Given the description of an element on the screen output the (x, y) to click on. 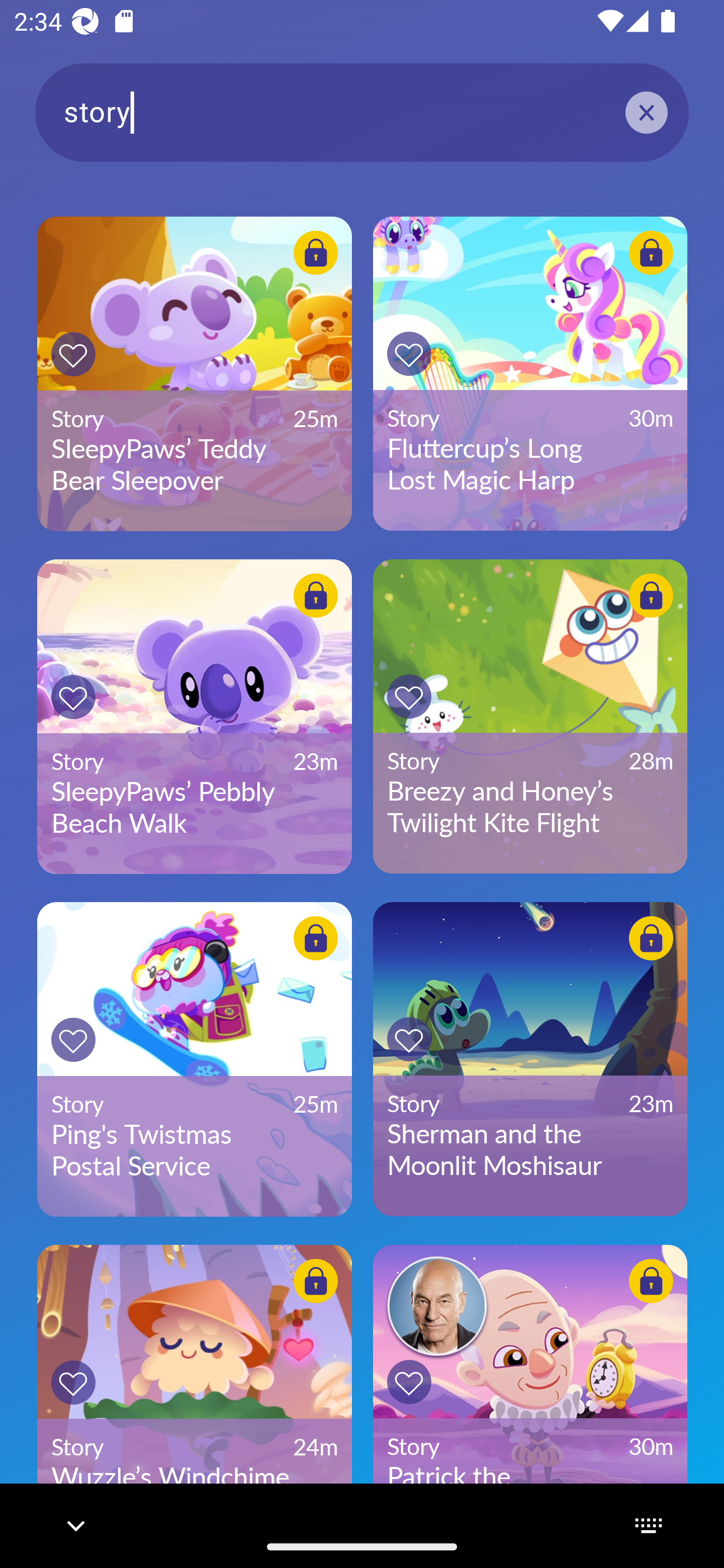
story (361, 111)
Button (315, 252)
Button (650, 252)
Button (409, 354)
Button (73, 354)
Button (315, 595)
Button (650, 595)
Button (409, 695)
Button (73, 696)
Button (315, 937)
Button (650, 937)
Button (409, 1039)
Button (73, 1039)
Button (315, 1280)
Button (650, 1280)
Button (409, 1381)
Button (73, 1382)
